Given the description of an element on the screen output the (x, y) to click on. 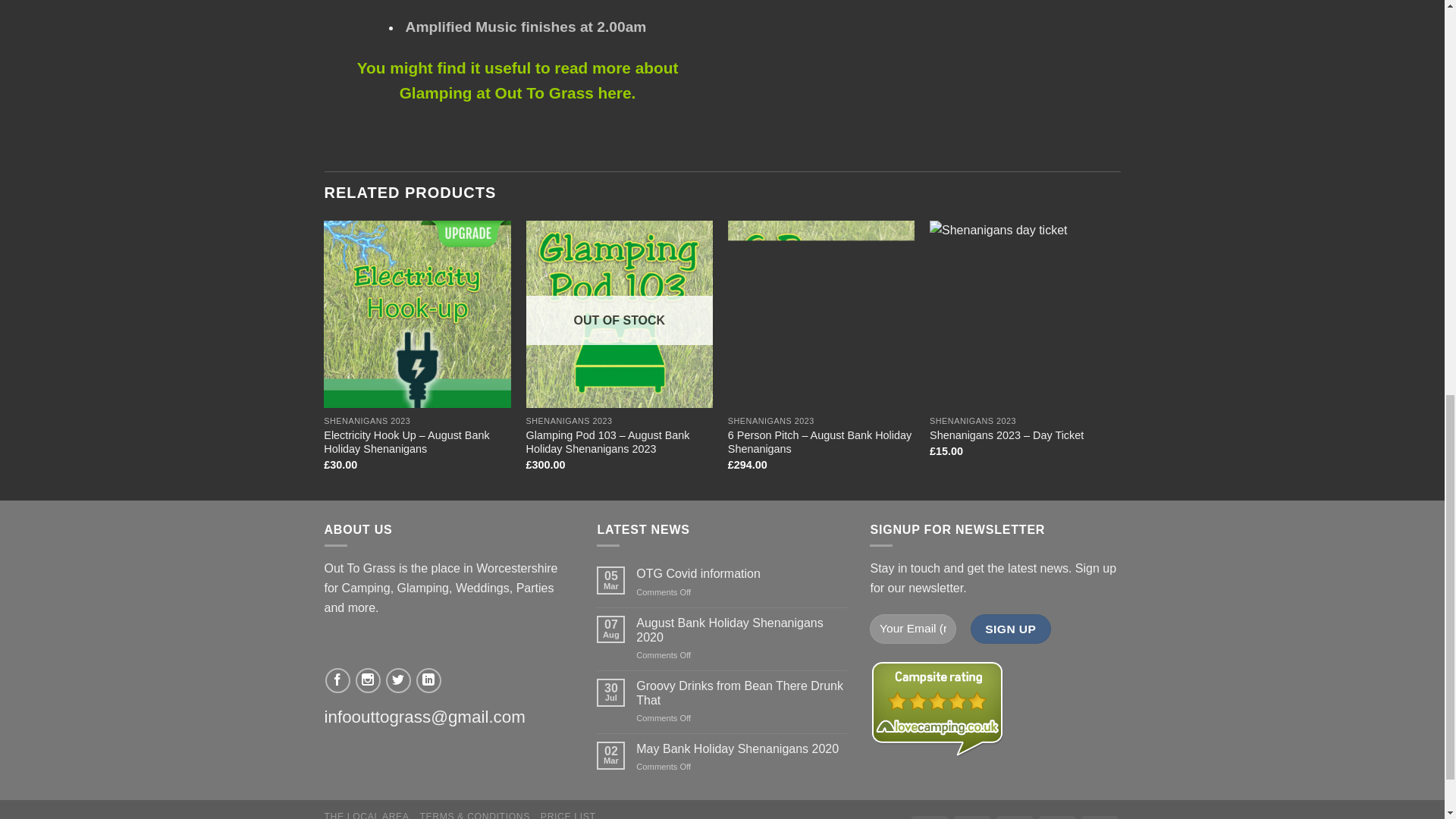
OTG Covid information (741, 573)
Groovy Drinks from Bean There Drunk That (741, 692)
August Bank Holiday Shenanigans 2020 (741, 629)
May Bank Holiday Shenanigans 2020 (741, 748)
Sign Up (1011, 628)
